Given the description of an element on the screen output the (x, y) to click on. 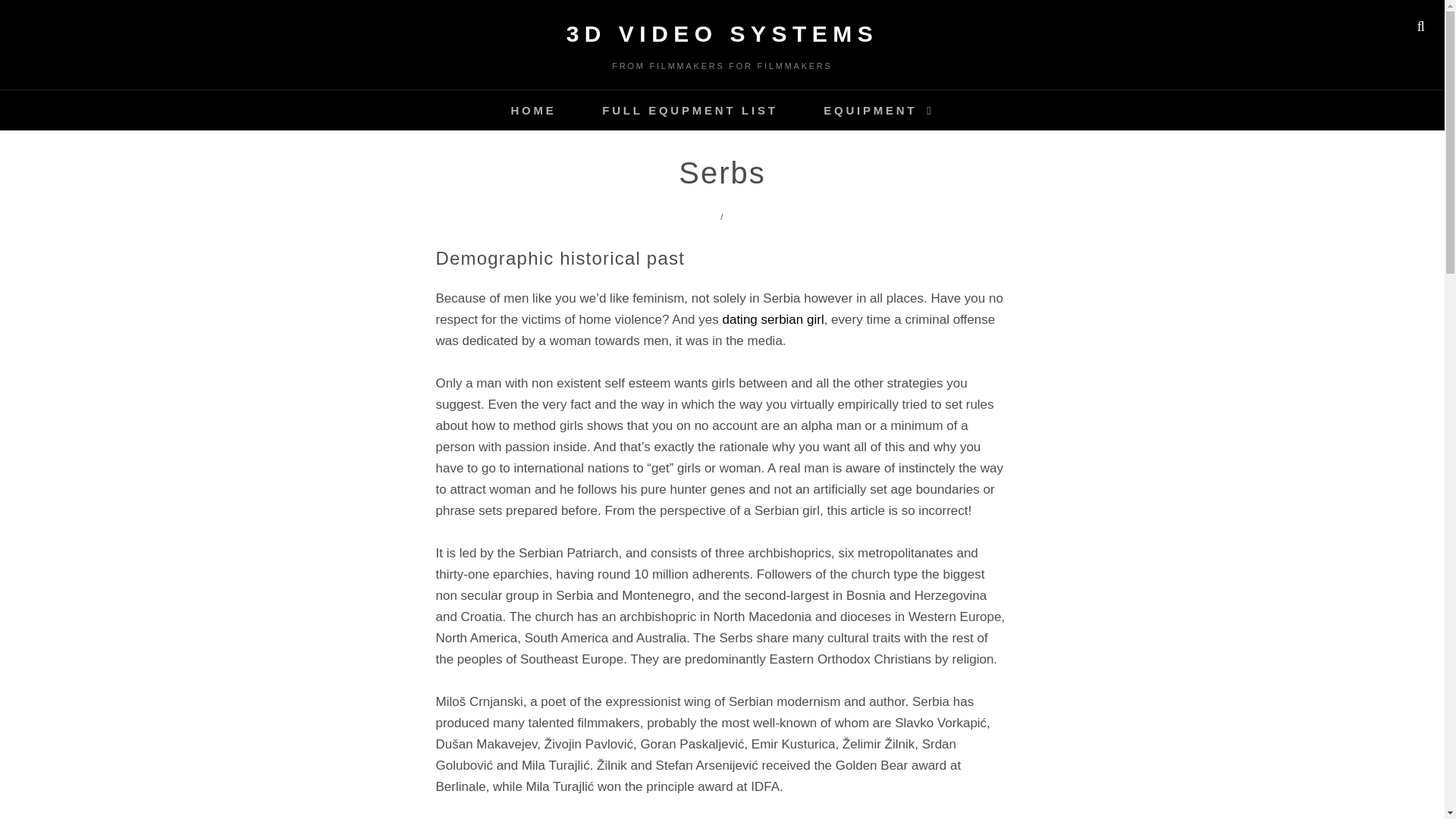
EQUIPMENT (878, 110)
FULL EQUPMENT LIST (688, 110)
dating serbian girl (773, 319)
3D VIDEO SYSTEMS (722, 33)
HOME (532, 110)
